Given the description of an element on the screen output the (x, y) to click on. 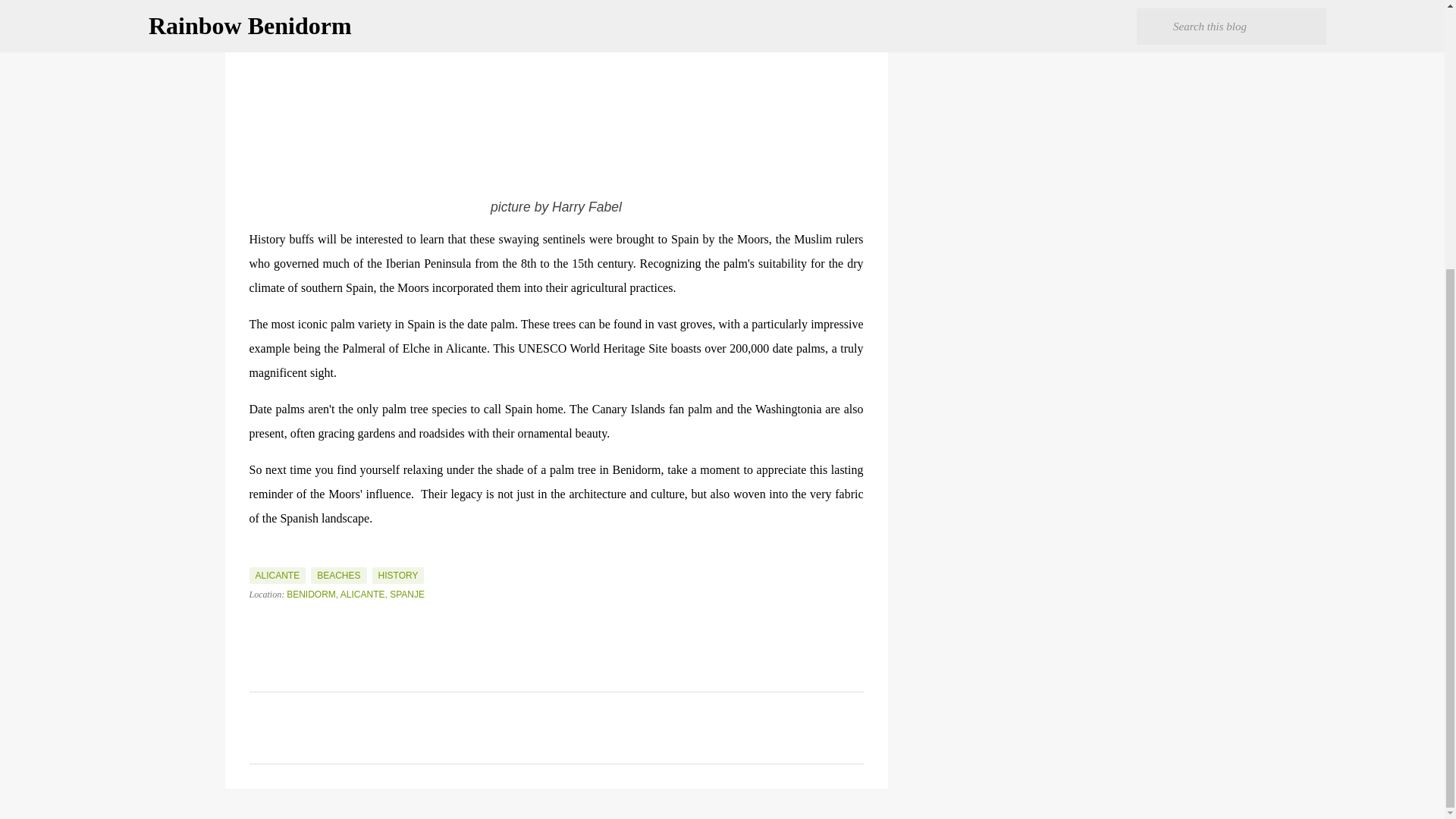
BENIDORM, ALICANTE, SPANJE (355, 593)
HISTORY (398, 575)
Email Post (257, 557)
BEACHES (338, 575)
ALICANTE (276, 575)
